Given the description of an element on the screen output the (x, y) to click on. 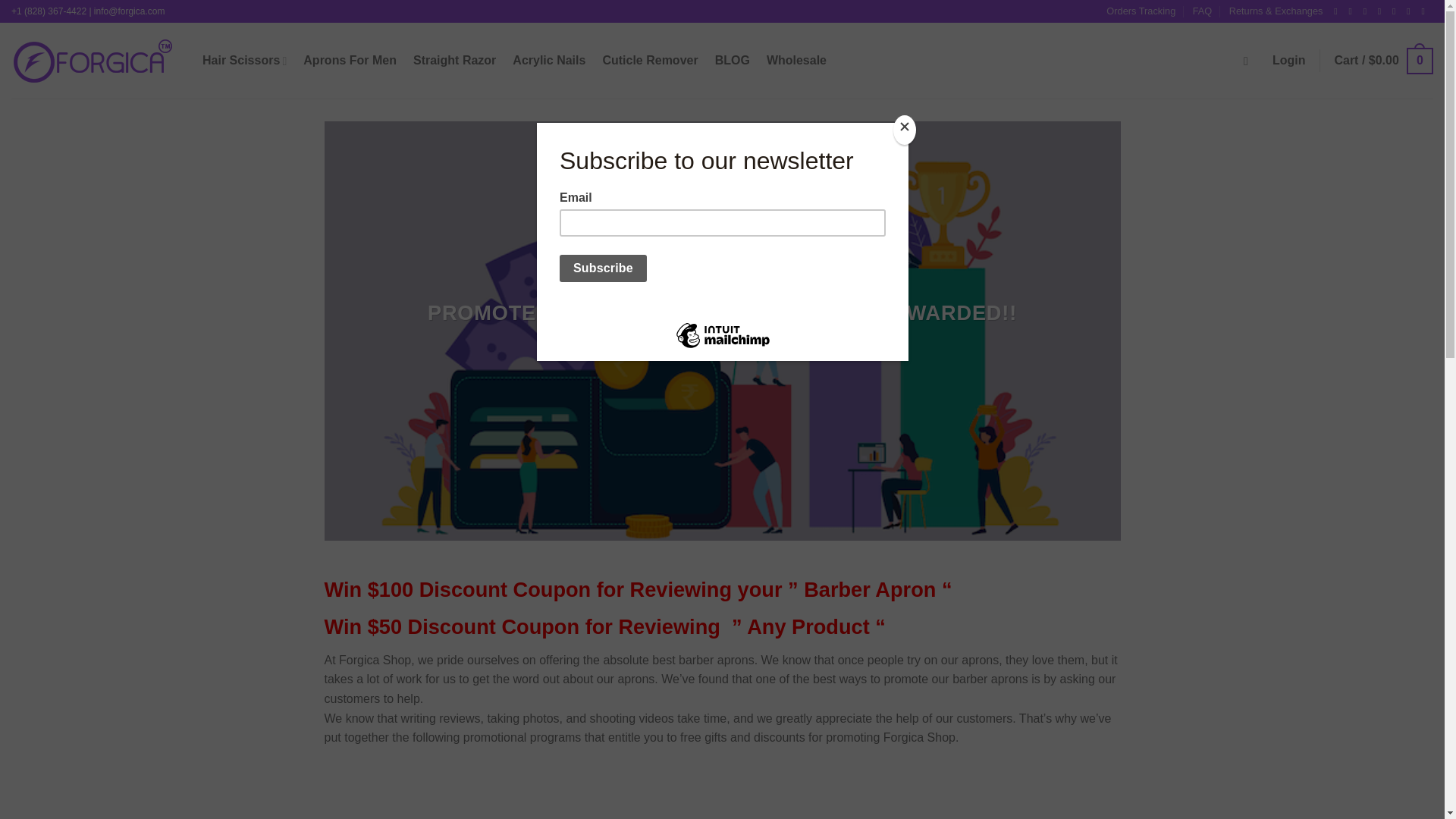
HOME (652, 344)
Cart (1382, 60)
Acrylic Nails (548, 60)
Hair Scissors (244, 60)
Aprons For Men (349, 60)
BLOG (731, 60)
Login (1289, 60)
Wholesale (797, 60)
Cuticle Remover (649, 60)
